Given the description of an element on the screen output the (x, y) to click on. 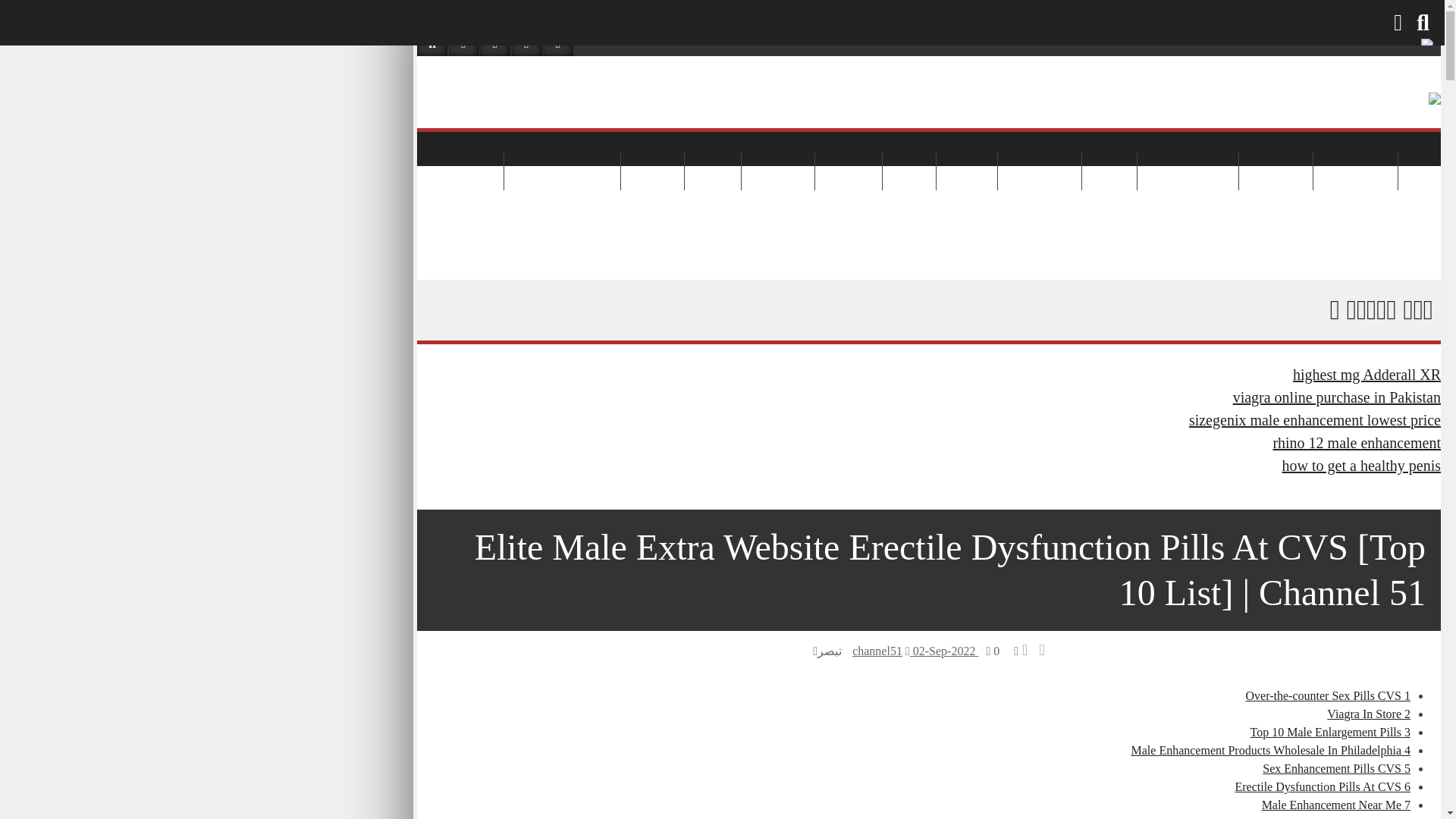
Toggle navigation (431, 144)
E-PAPER (928, 13)
English News (1387, 208)
